Given the description of an element on the screen output the (x, y) to click on. 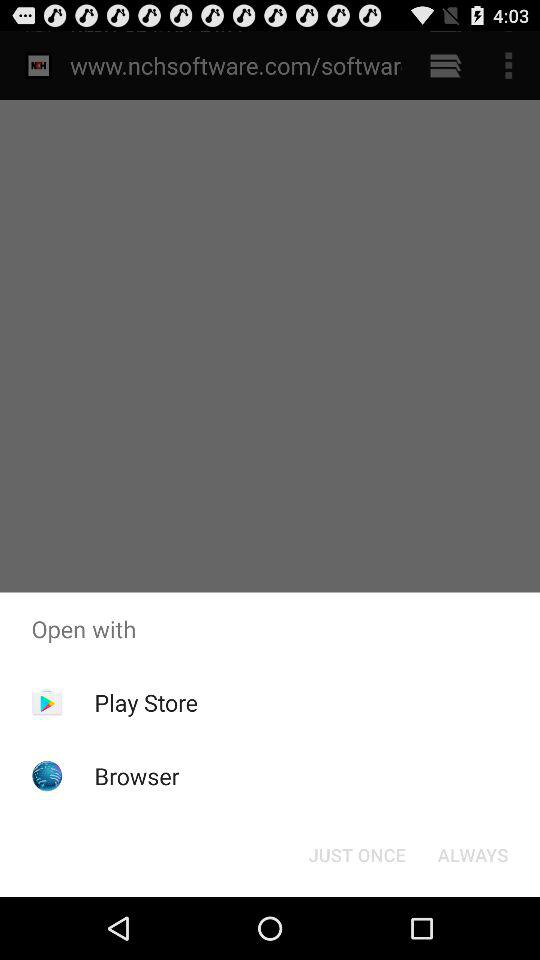
open just once (356, 854)
